Given the description of an element on the screen output the (x, y) to click on. 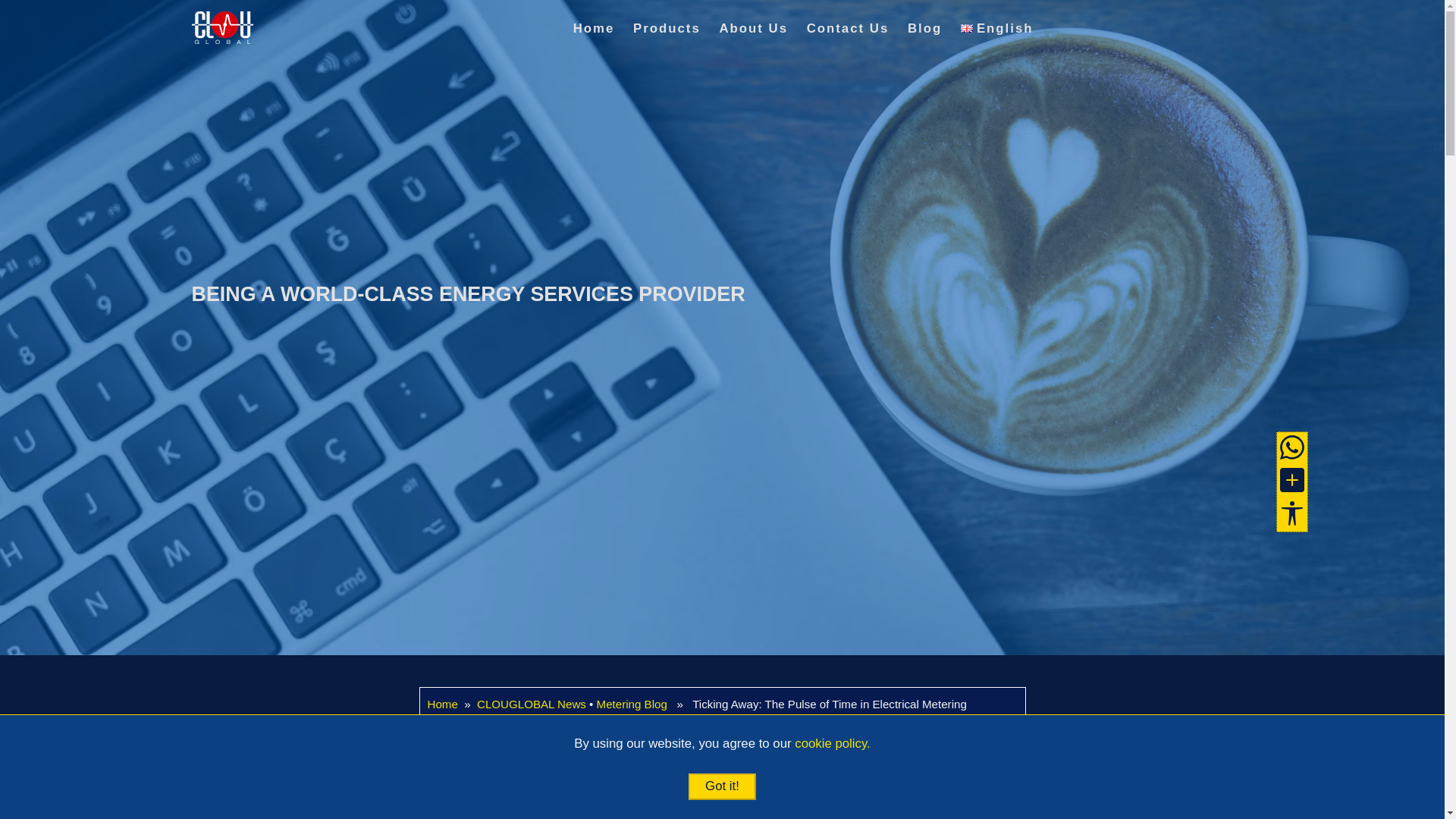
Home (443, 703)
English (996, 29)
Share This (1291, 480)
Blog (924, 29)
Contact Us (1291, 447)
Home (593, 29)
About Us (753, 29)
Start search (1068, 57)
Products (666, 29)
Contact Us (847, 29)
Accessibility (1291, 512)
Metering Blog (631, 703)
Tina Reynolds (618, 721)
CLOUGLOBAL News (531, 703)
